Given the description of an element on the screen output the (x, y) to click on. 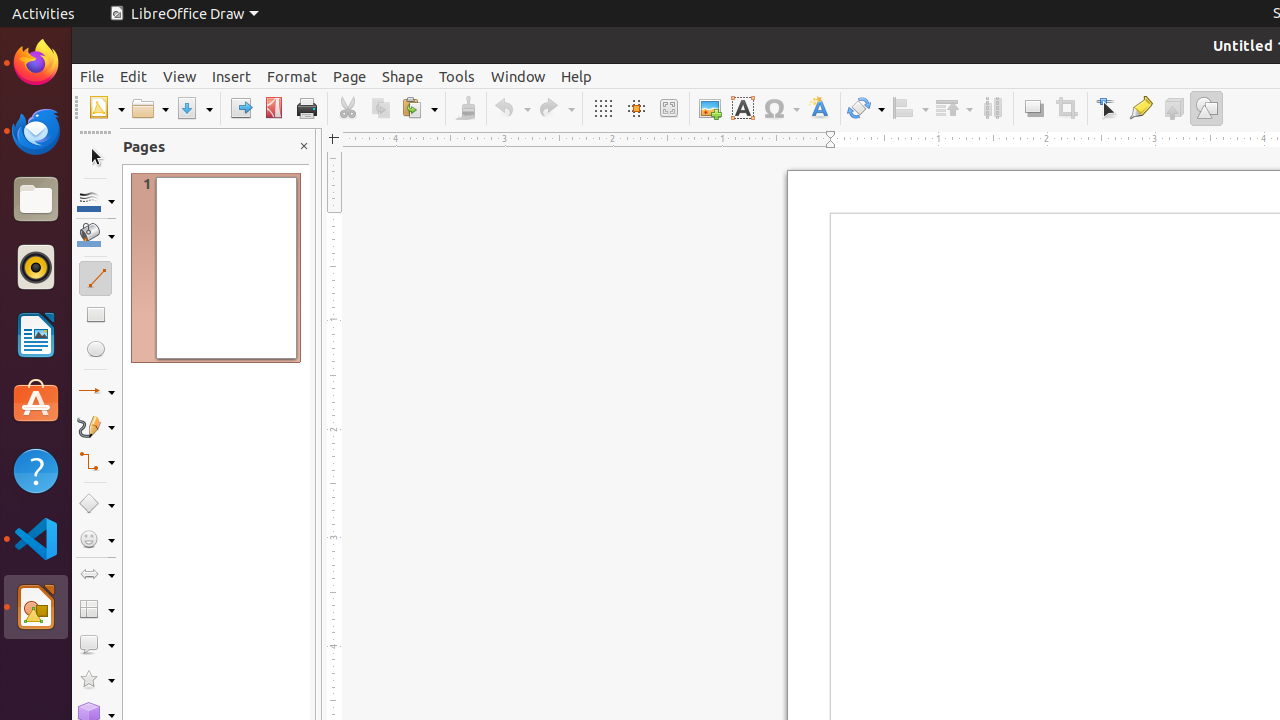
Undo Element type: push-button (512, 108)
Symbol Element type: push-button (781, 108)
Align Element type: push-button (910, 108)
Transformations Element type: push-button (866, 108)
Select Element type: push-button (95, 157)
